Given the description of an element on the screen output the (x, y) to click on. 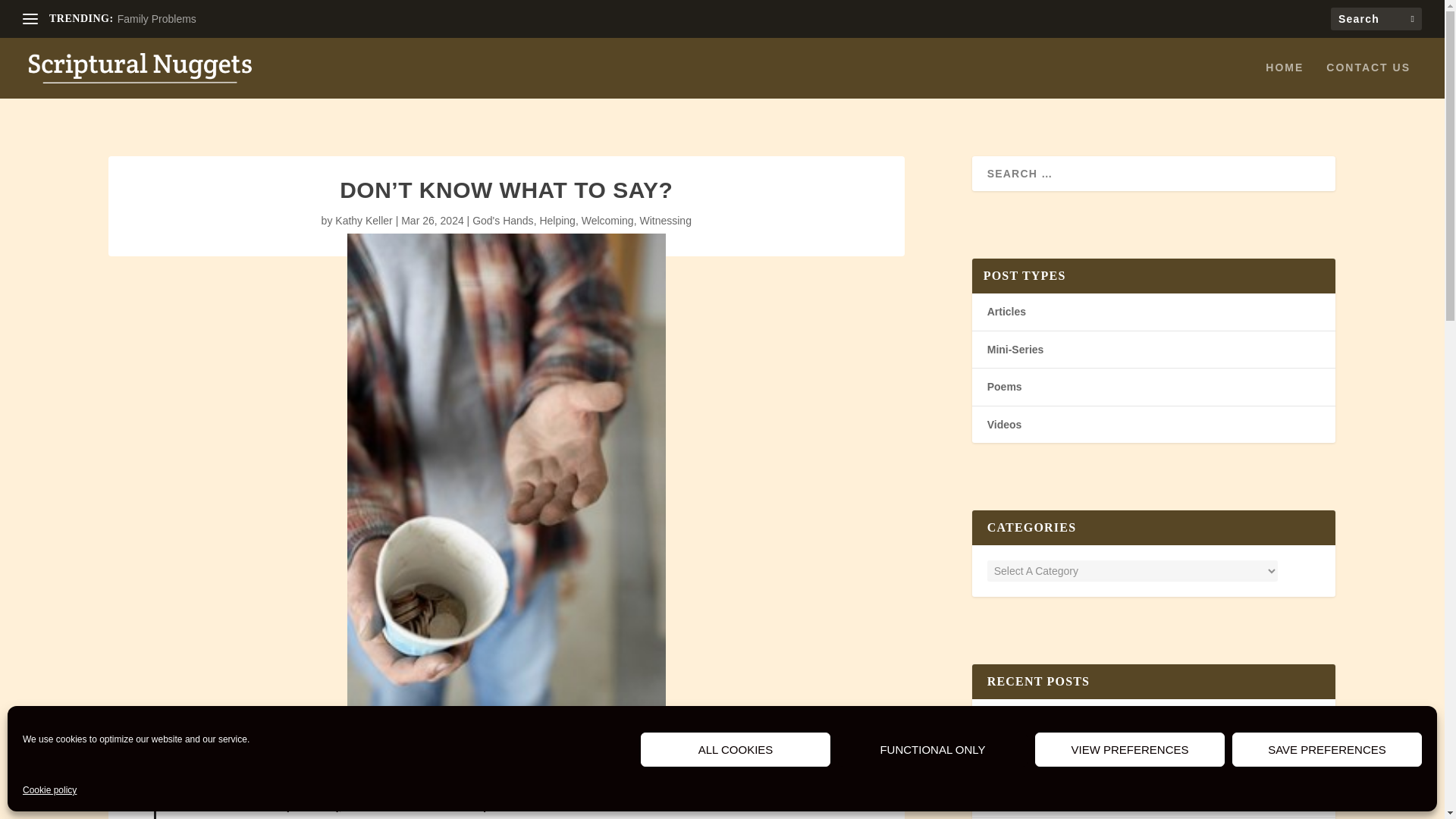
Articles (1006, 311)
Search (31, 13)
Helping (556, 220)
VIEW PREFERENCES (1129, 749)
Videos (1004, 424)
Kathy Keller (362, 220)
Cookie policy (50, 791)
Witnessing (664, 220)
CONTACT US (1368, 79)
God's Hands (502, 220)
Posts by Kathy Keller (362, 220)
Welcoming (606, 220)
HOME (1284, 79)
SAVE PREFERENCES (1326, 749)
ALL COOKIES (734, 749)
